Given the description of an element on the screen output the (x, y) to click on. 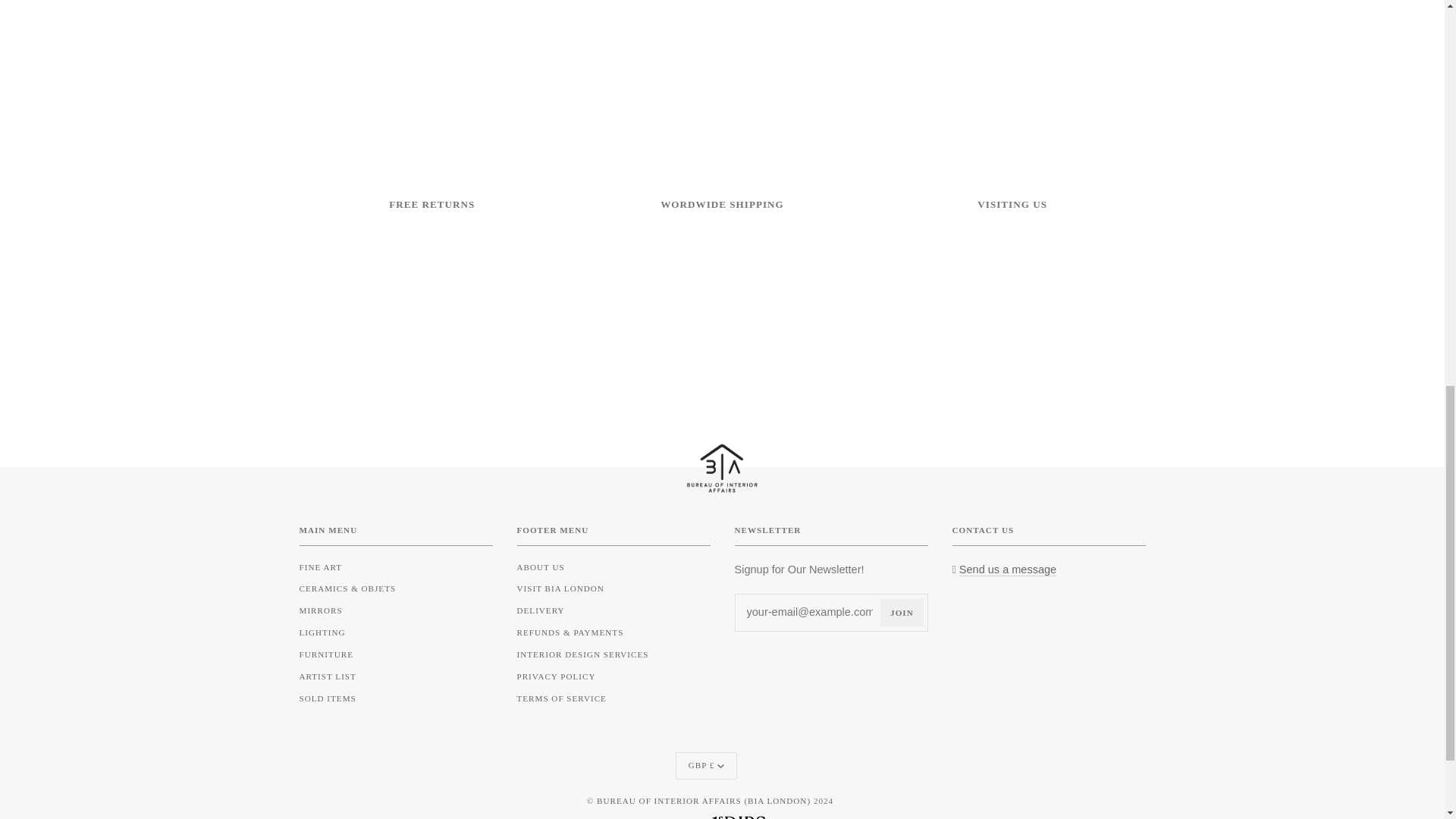
Contact Us (1008, 569)
